Given the description of an element on the screen output the (x, y) to click on. 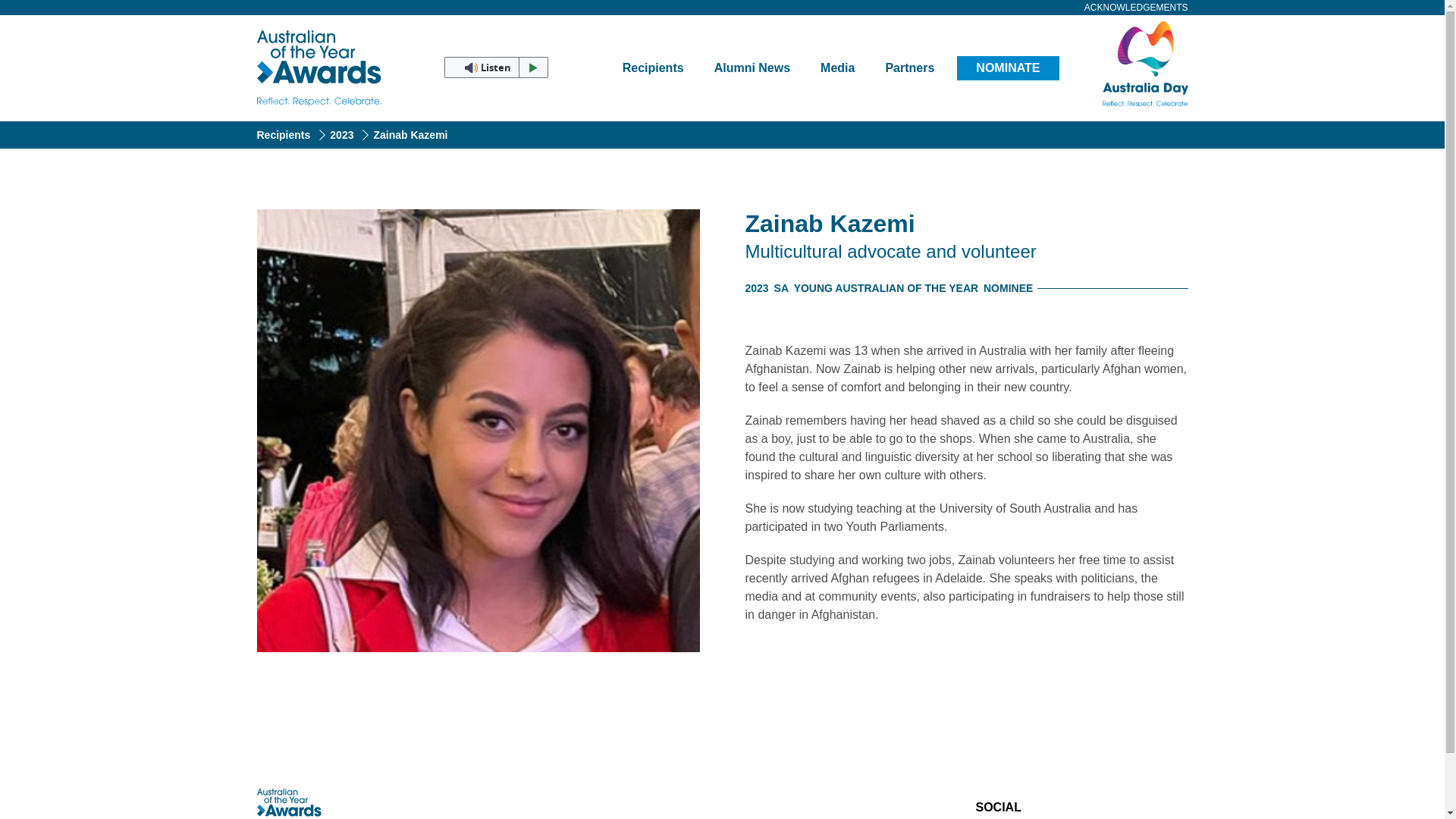
Partners (909, 68)
NOMINATE (1007, 68)
Alumni News (751, 68)
Listen (495, 66)
Media (837, 68)
Australian of the Year (320, 68)
ACKNOWLEDGEMENTS (1128, 7)
Recipients (652, 68)
Visit Australia Day Website (1123, 63)
Listen to this page using ReadSpeaker webReader (495, 66)
